Given the description of an element on the screen output the (x, y) to click on. 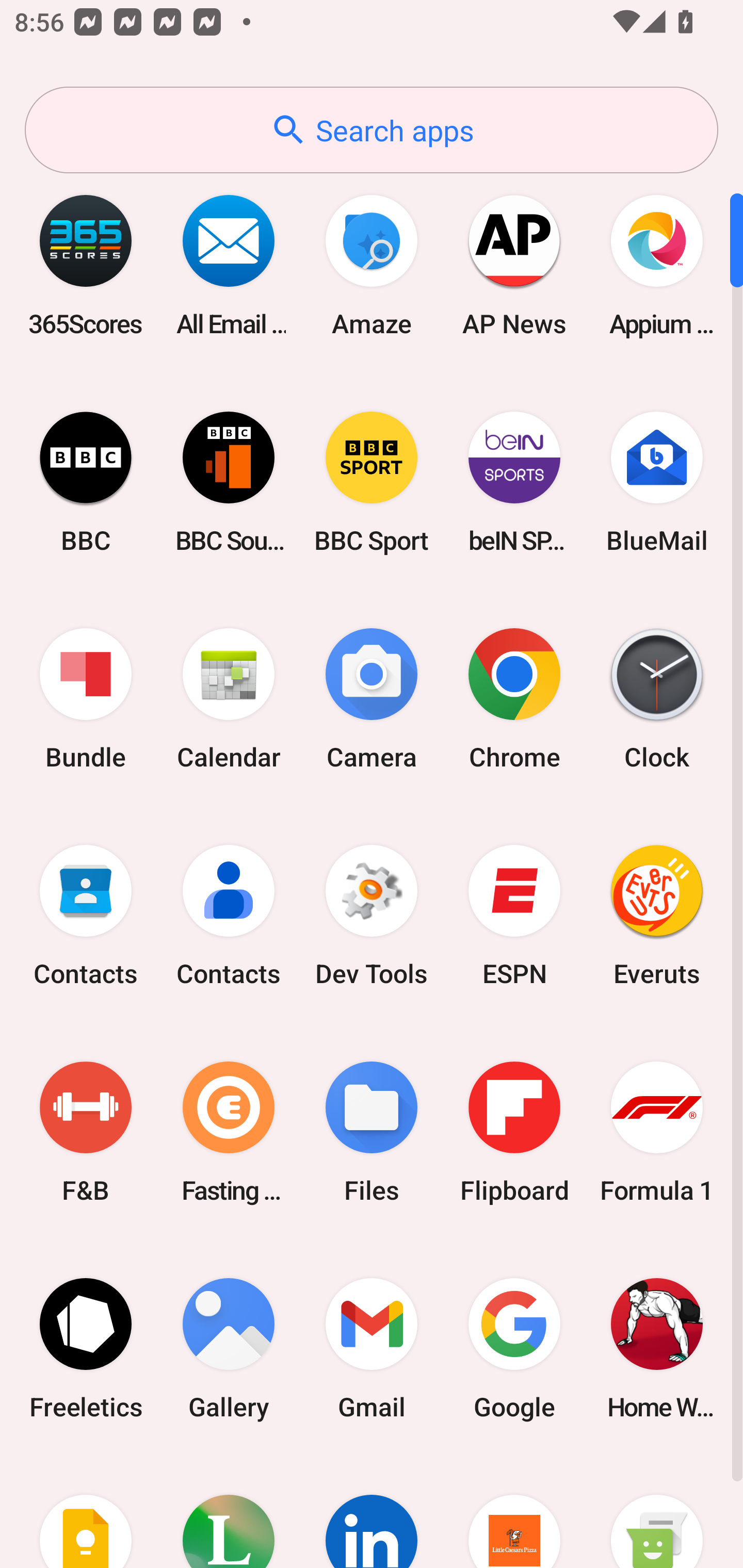
  Search apps (371, 130)
365Scores (85, 264)
All Email Connect (228, 264)
Amaze (371, 264)
AP News (514, 264)
Appium Settings (656, 264)
BBC (85, 482)
BBC Sounds (228, 482)
BBC Sport (371, 482)
beIN SPORTS (514, 482)
BlueMail (656, 482)
Bundle (85, 699)
Calendar (228, 699)
Camera (371, 699)
Chrome (514, 699)
Clock (656, 699)
Contacts (85, 915)
Contacts (228, 915)
Dev Tools (371, 915)
ESPN (514, 915)
Everuts (656, 915)
F&B (85, 1131)
Fasting Coach (228, 1131)
Files (371, 1131)
Flipboard (514, 1131)
Formula 1 (656, 1131)
Freeletics (85, 1348)
Gallery (228, 1348)
Gmail (371, 1348)
Google (514, 1348)
Home Workout (656, 1348)
Keep Notes (85, 1512)
Lifesum (228, 1512)
LinkedIn (371, 1512)
Little Caesars Pizza (514, 1512)
Messaging (656, 1512)
